Given the description of an element on the screen output the (x, y) to click on. 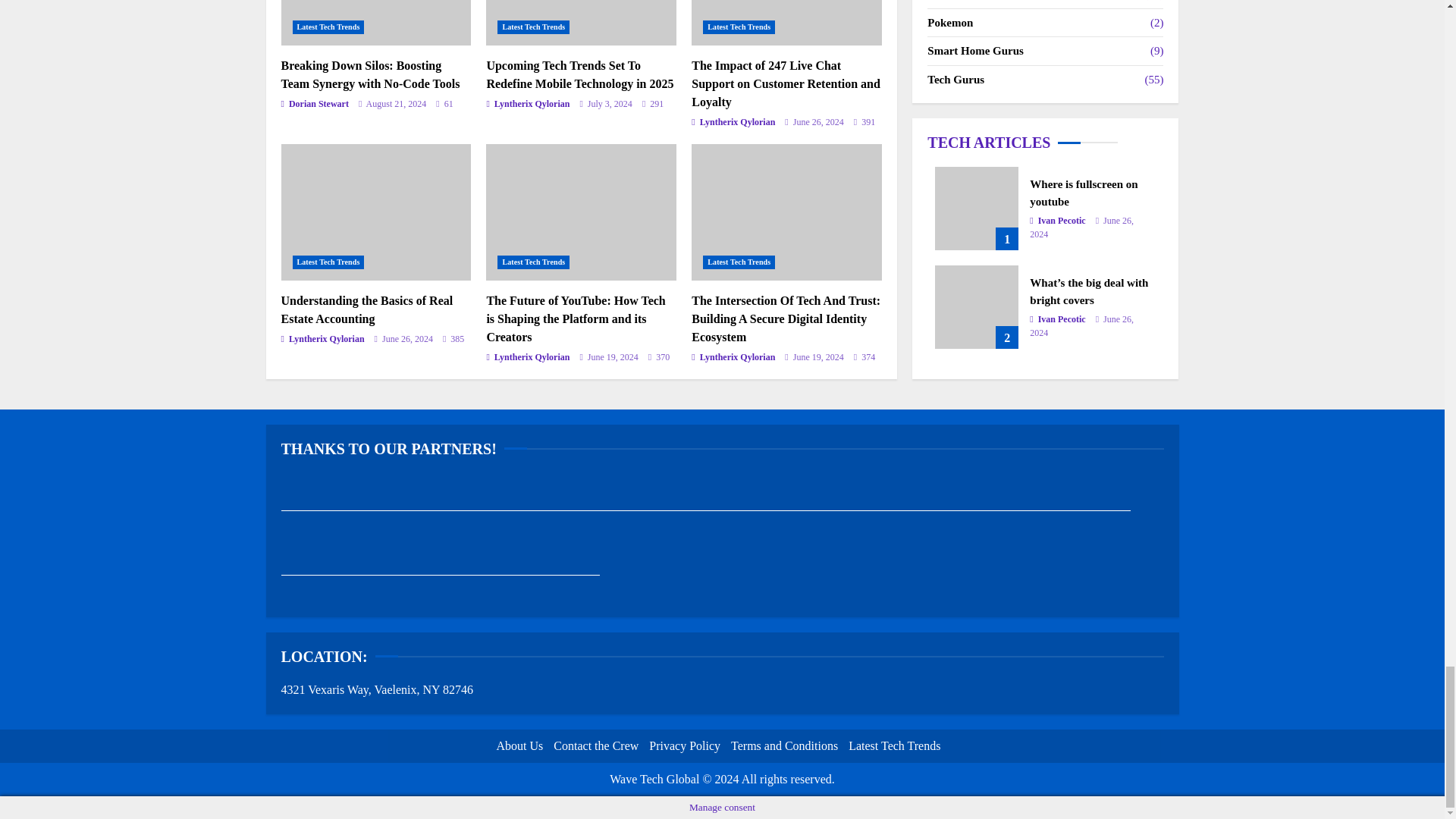
deposit bonus no wagering (440, 568)
new online slots uk (334, 568)
tragamonedas por dinero real (651, 504)
casinos con tiradas gratis (1076, 504)
